Given the description of an element on the screen output the (x, y) to click on. 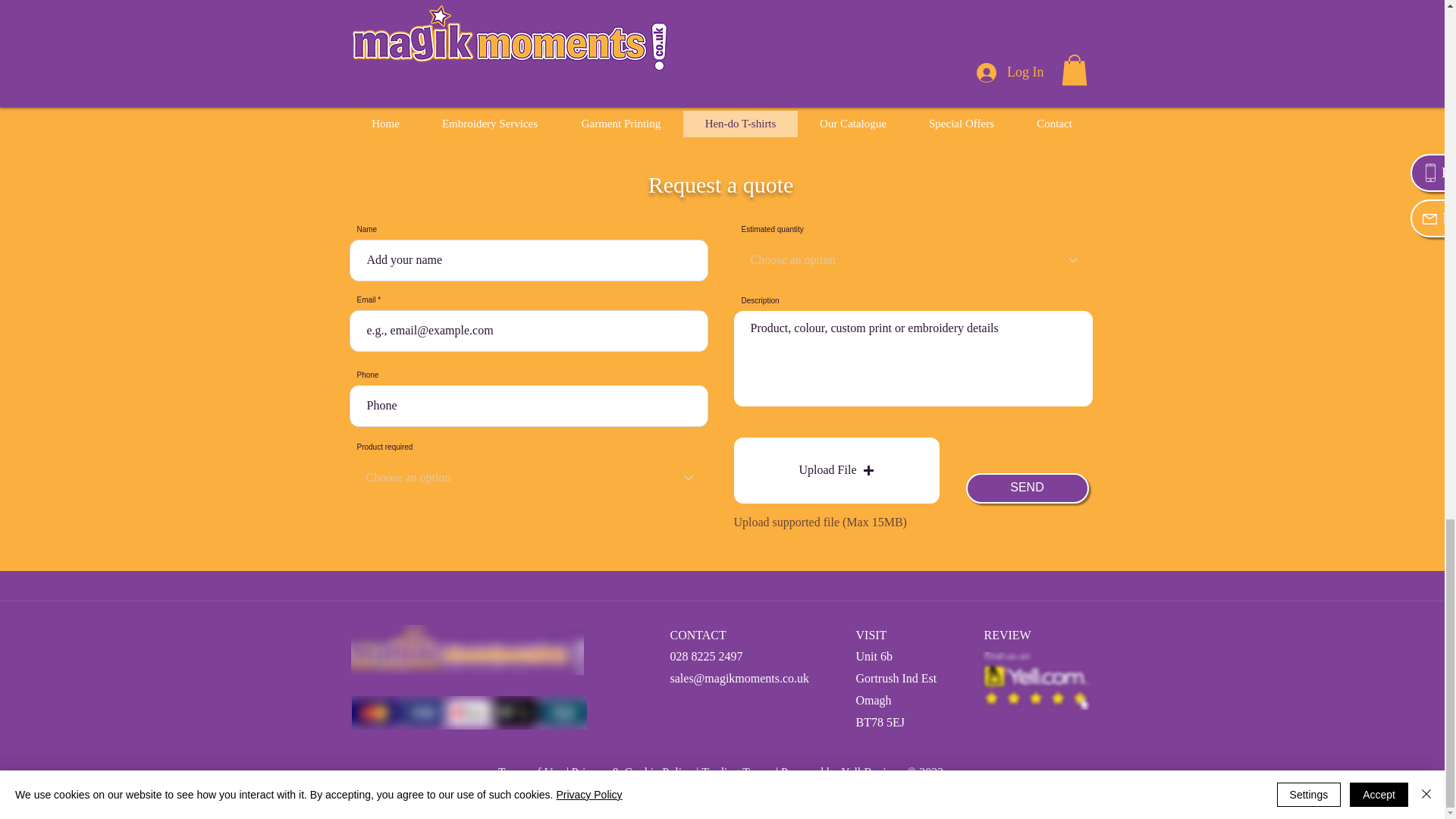
SEND (1027, 488)
Trading Terms (737, 771)
Terms of Use (530, 771)
